Given the description of an element on the screen output the (x, y) to click on. 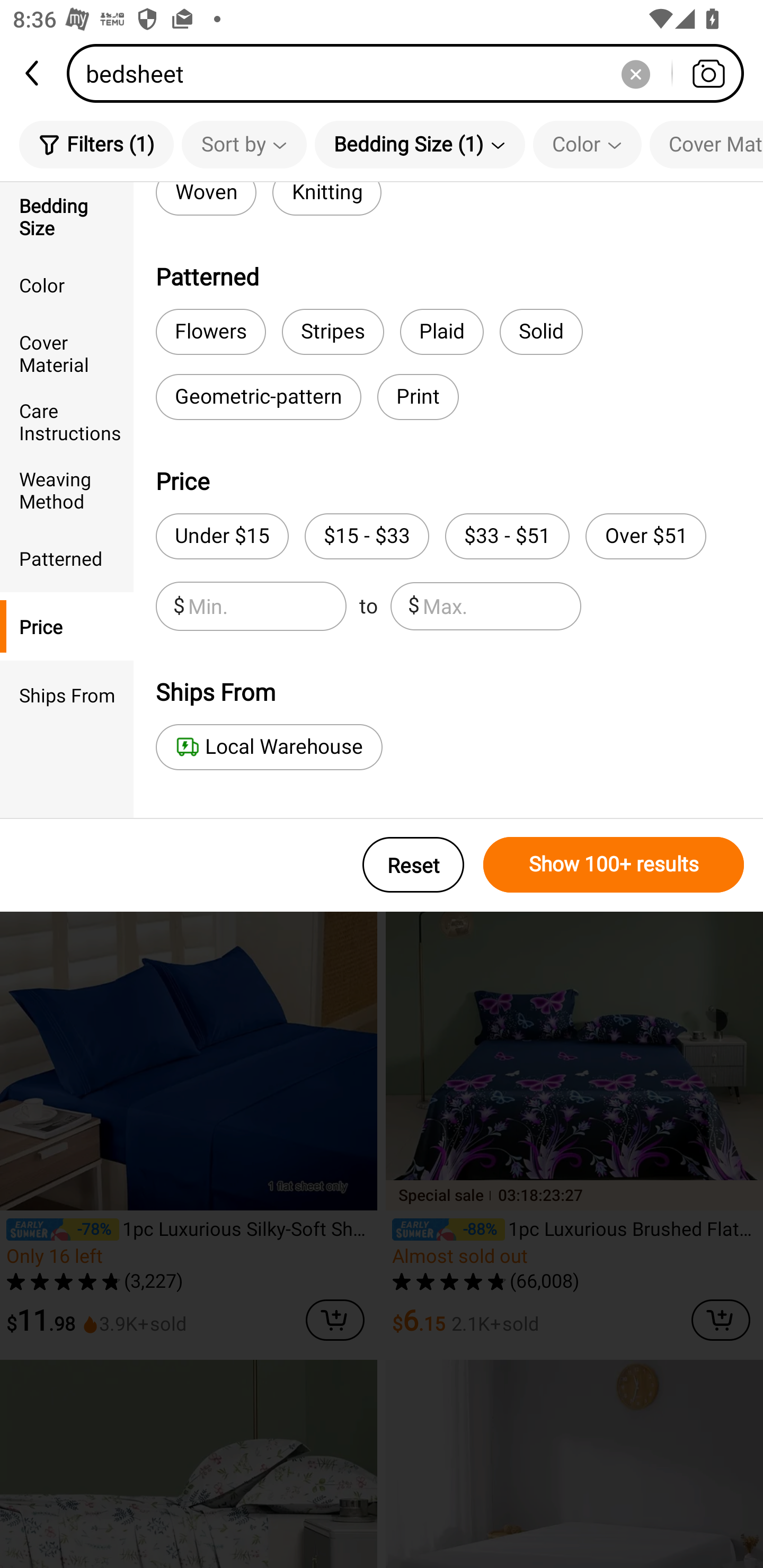
back (33, 72)
bedsheet (411, 73)
Delete search history (635, 73)
Search by photo (708, 73)
Filters (1) (96, 143)
Sort by (243, 143)
Bedding Size (1) (419, 143)
Color (587, 143)
Cover Material (706, 143)
Bedding Size (66, 215)
Woven (205, 198)
Knitting (326, 198)
bed sheet set (232, 271)
Color (66, 284)
Flowers (210, 331)
Stripes (332, 331)
Plaid (441, 331)
Solid (540, 331)
Cover Material (66, 352)
Geometric-pattern (258, 397)
